Given the description of an element on the screen output the (x, y) to click on. 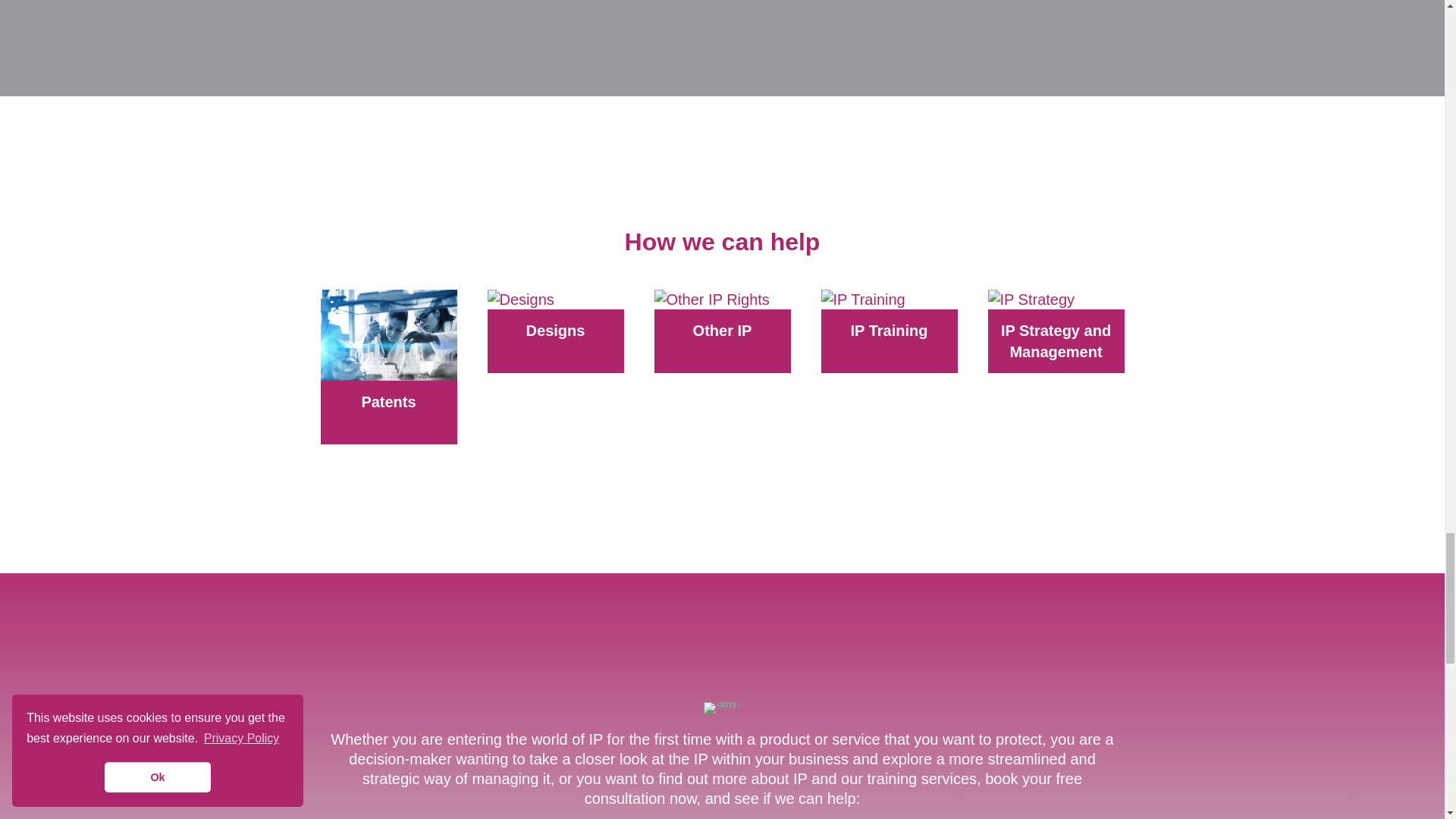
IP Strategy and Management (388, 422)
IP Training (1055, 351)
